Given the description of an element on the screen output the (x, y) to click on. 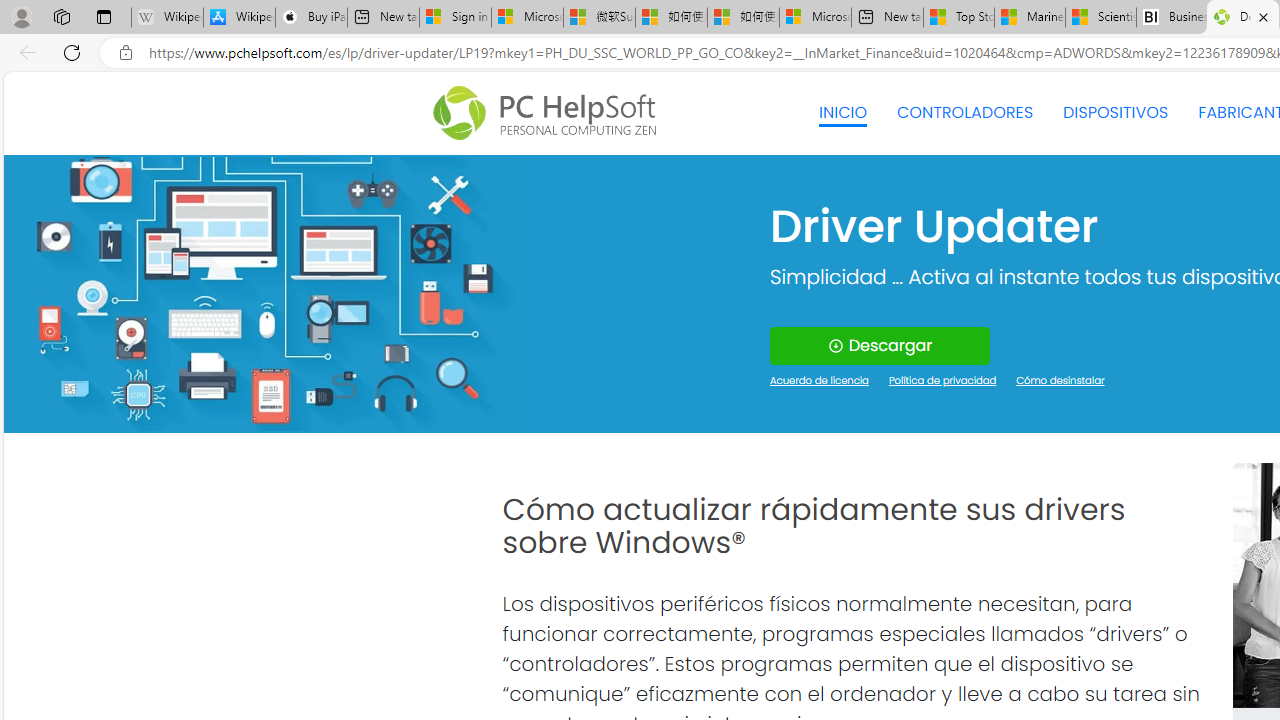
Wikipedia - Sleeping (167, 17)
Generic (263, 293)
Top Stories - MSN (959, 17)
Microsoft Services Agreement (527, 17)
CONTROLADORES (965, 112)
Logo Personal Computing (550, 113)
Marine life - MSN (1029, 17)
CONTROLADORES (965, 112)
INICIO (842, 112)
